Given the description of an element on the screen output the (x, y) to click on. 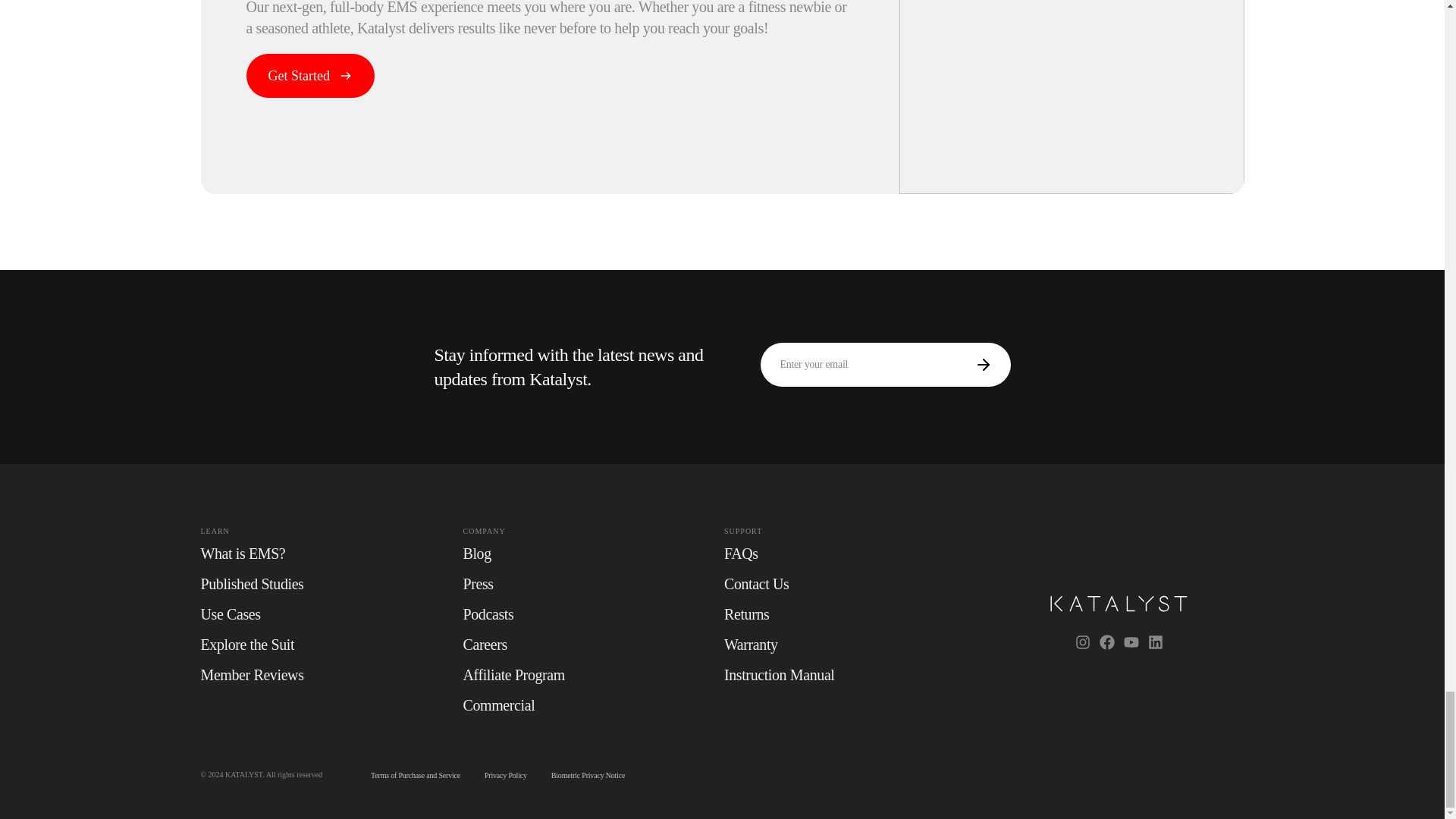
What is EMS? (242, 553)
Use Cases (230, 614)
Member Reviews (251, 674)
Blog (477, 553)
Explore the Suit (247, 644)
COMPANY (593, 531)
Careers (484, 644)
Get Started (310, 75)
Press (478, 583)
Podcasts (488, 614)
